Given the description of an element on the screen output the (x, y) to click on. 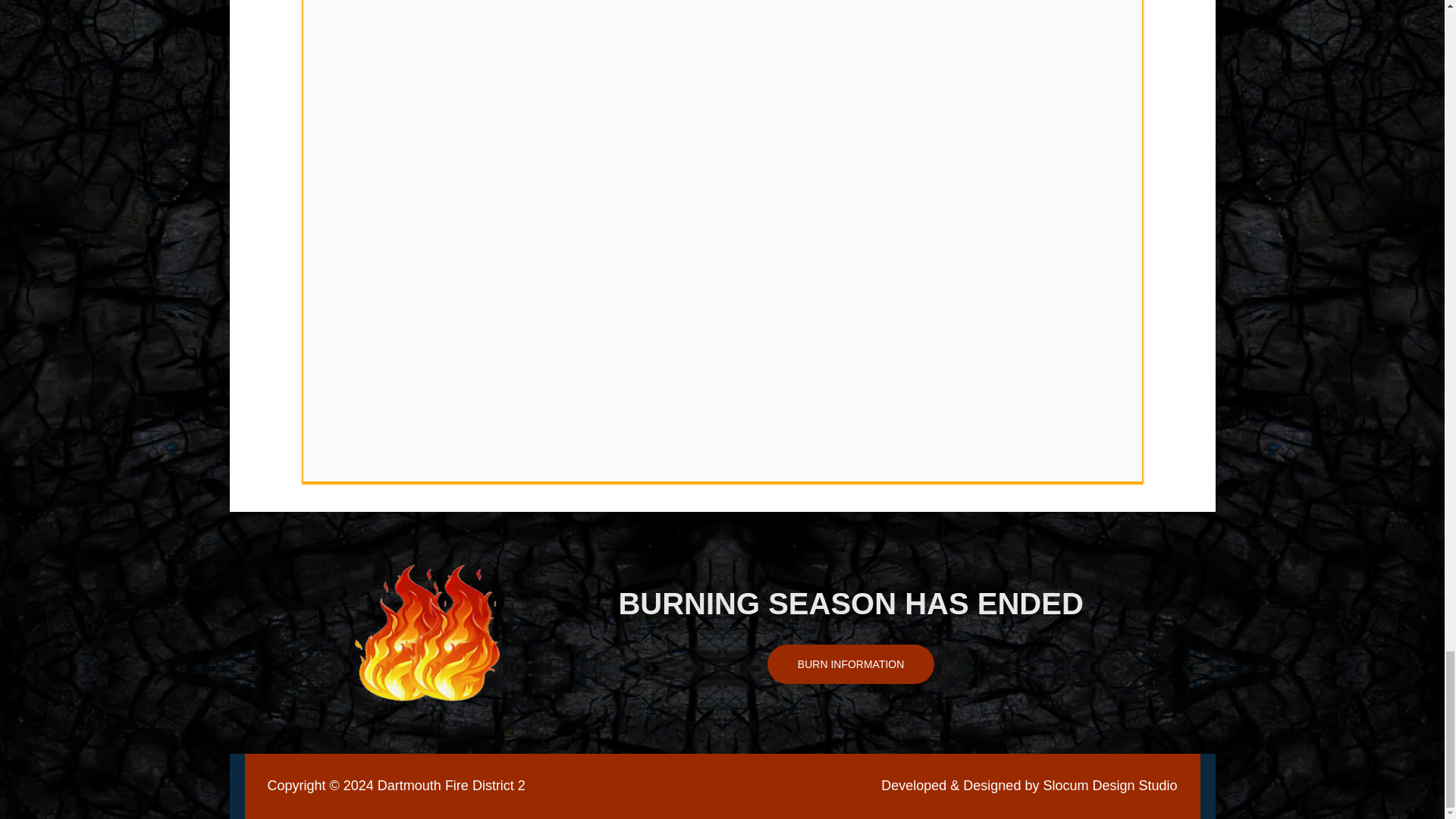
BURN INFORMATION (850, 663)
Slocum Design Studio (1109, 785)
FIRE ICON (428, 632)
